Given the description of an element on the screen output the (x, y) to click on. 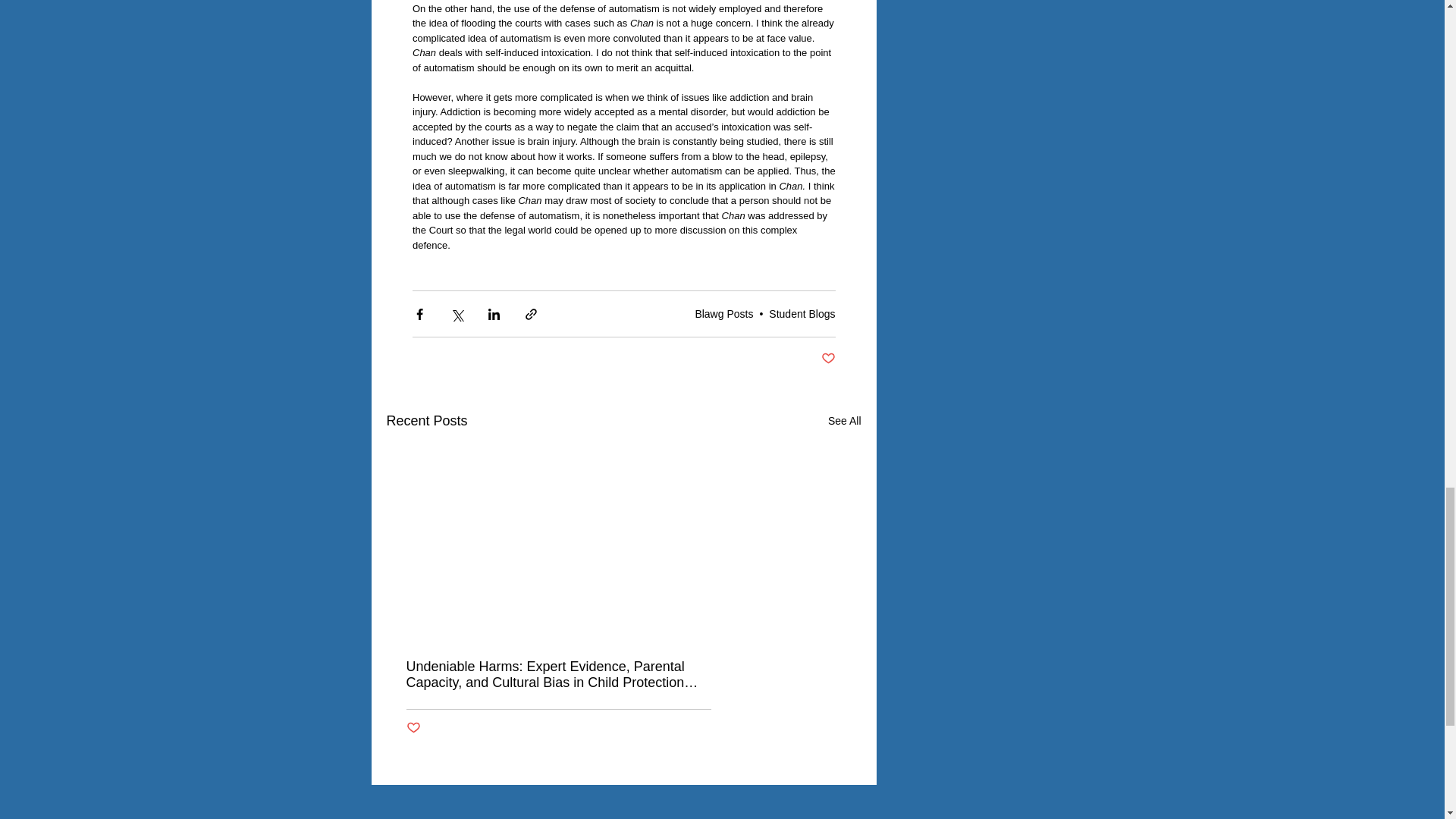
Student Blogs (801, 313)
Blawg Posts (723, 313)
Post not marked as liked (827, 358)
Post not marked as liked (413, 728)
See All (844, 421)
